Given the description of an element on the screen output the (x, y) to click on. 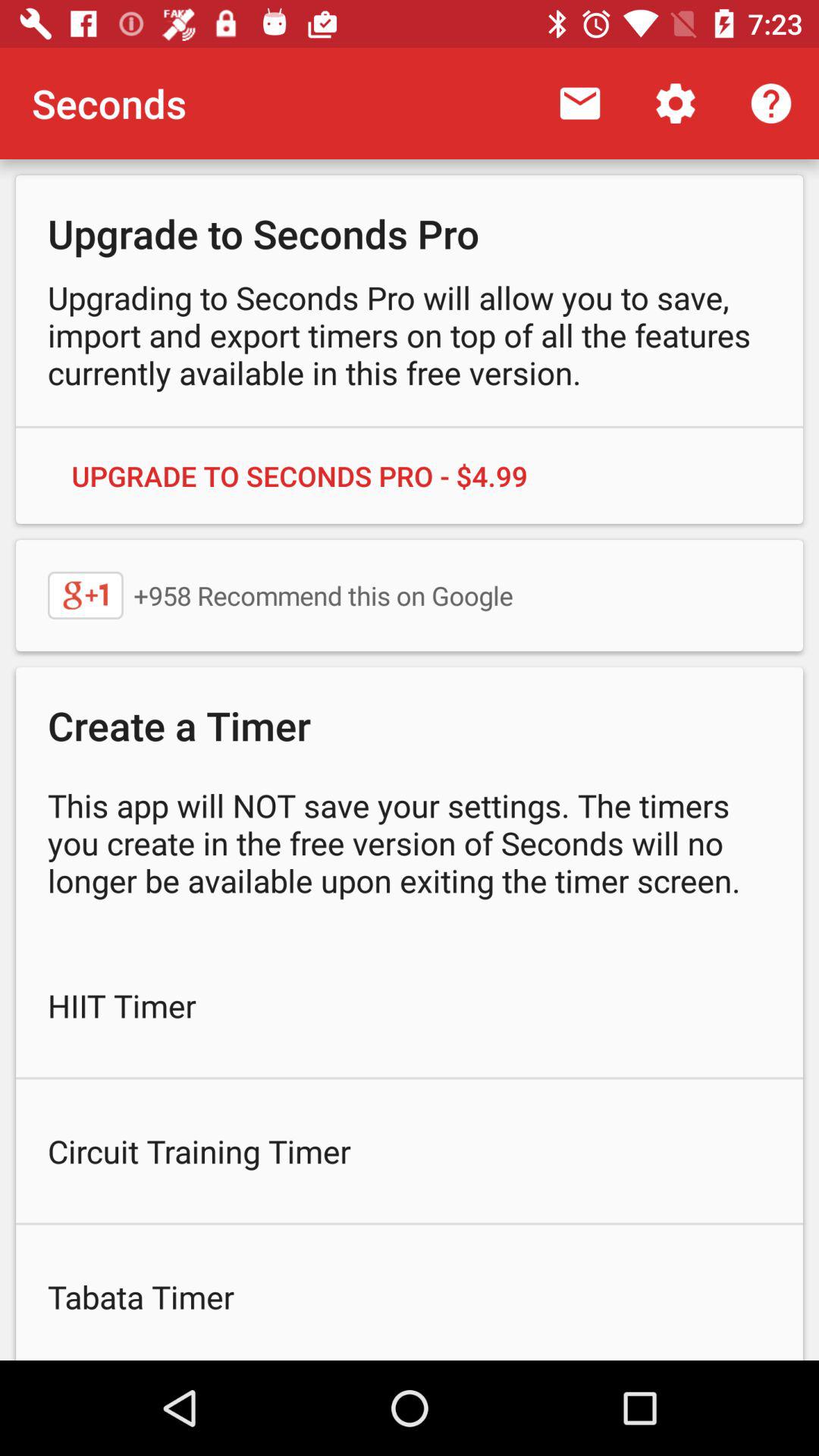
turn on app to the right of the seconds icon (579, 103)
